Given the description of an element on the screen output the (x, y) to click on. 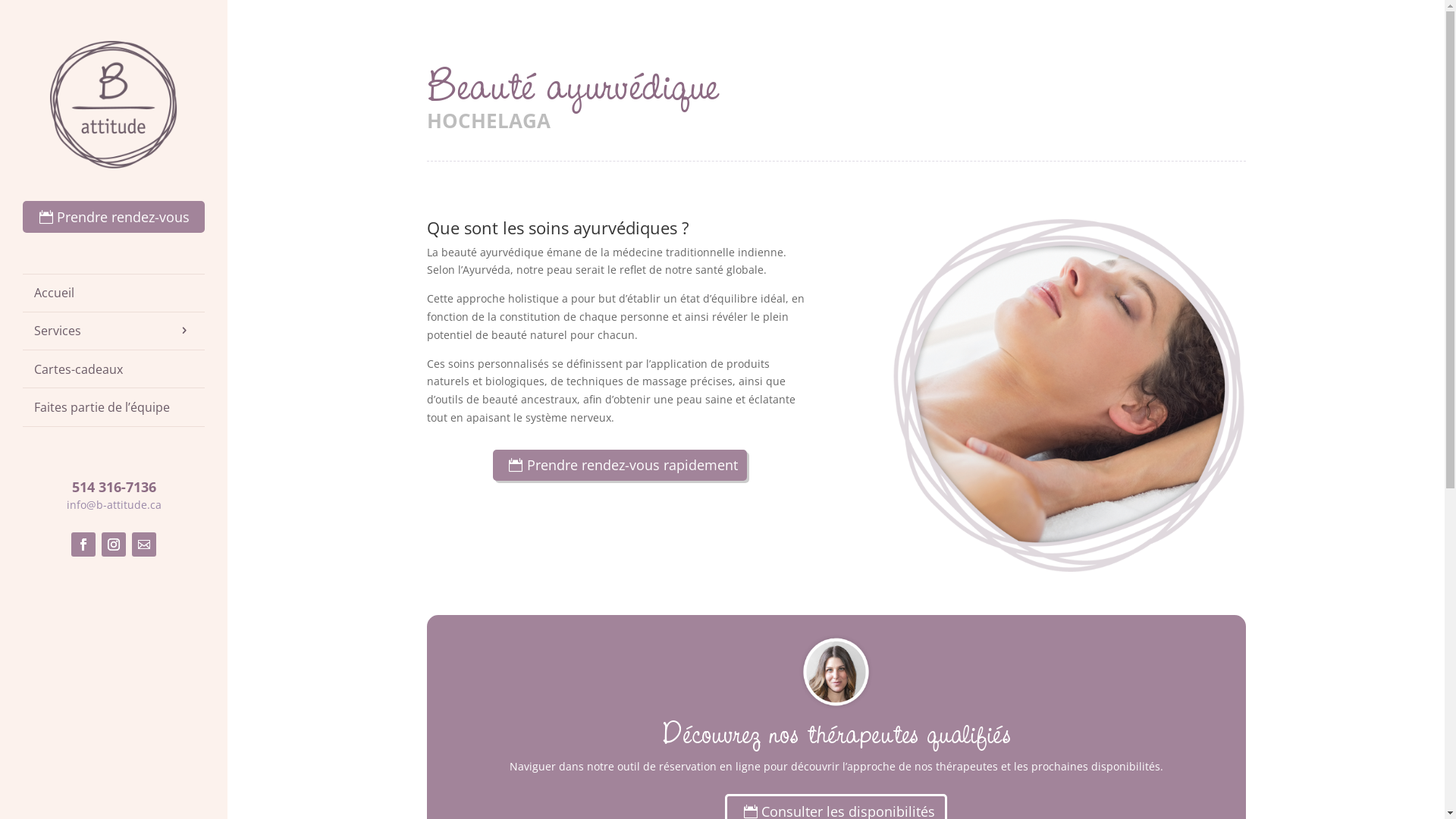
info@b-attitude.ca Element type: text (113, 504)
Cartes-cadeaux Element type: text (113, 368)
Suivez sur RSS Element type: hover (143, 544)
Services Element type: text (113, 330)
Prendre rendez-vous rapidement Element type: text (619, 464)
514 316-7136 Element type: text (113, 486)
Suivez sur Facebook Element type: hover (83, 544)
ba_logo Element type: hover (113, 104)
Accueil Element type: text (113, 292)
Prendre rendez-vous Element type: text (113, 216)
Suivez sur Instagram Element type: hover (113, 544)
